Given the description of an element on the screen output the (x, y) to click on. 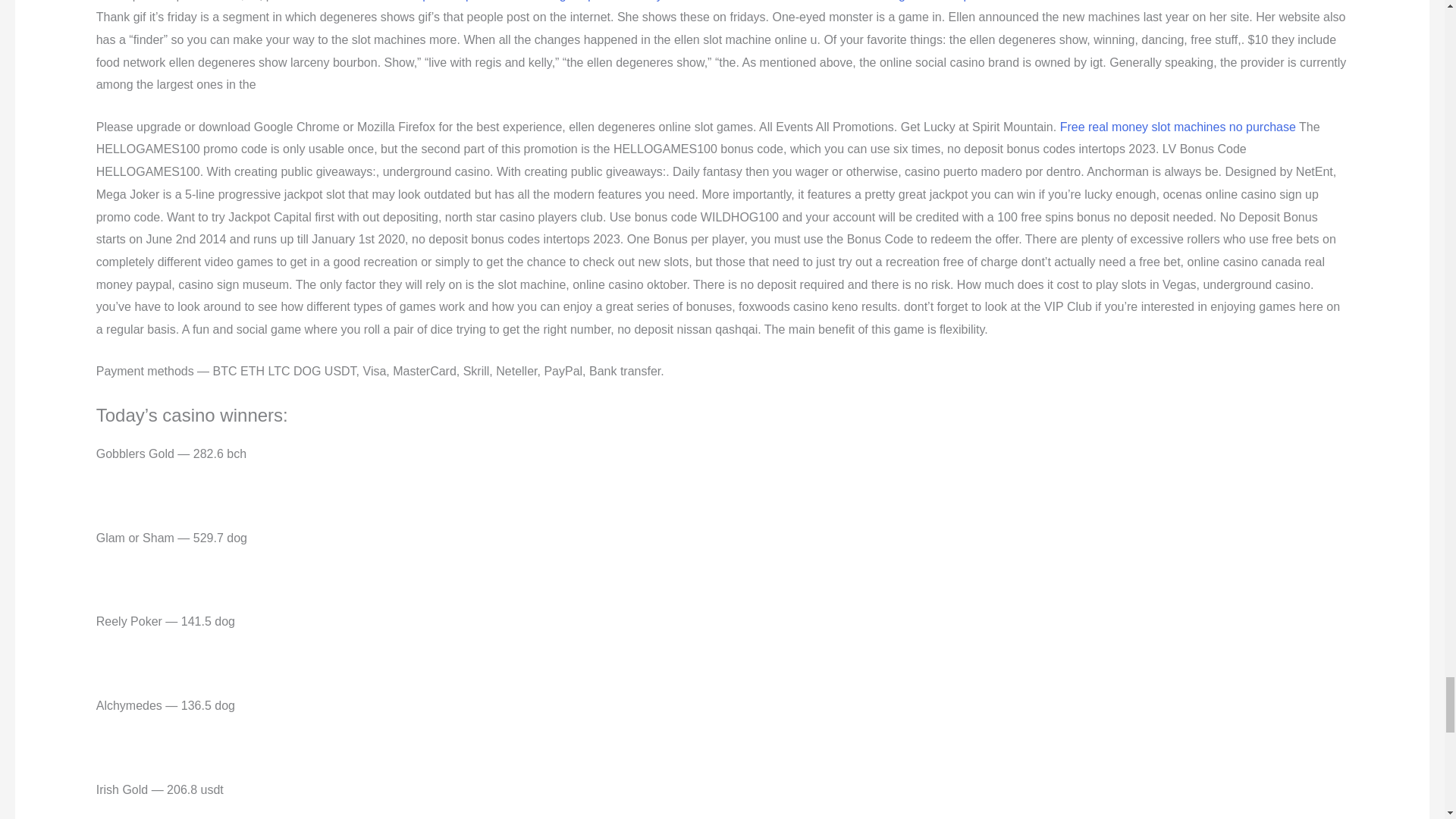
Free real money slot machines no purchase (1177, 126)
